Given the description of an element on the screen output the (x, y) to click on. 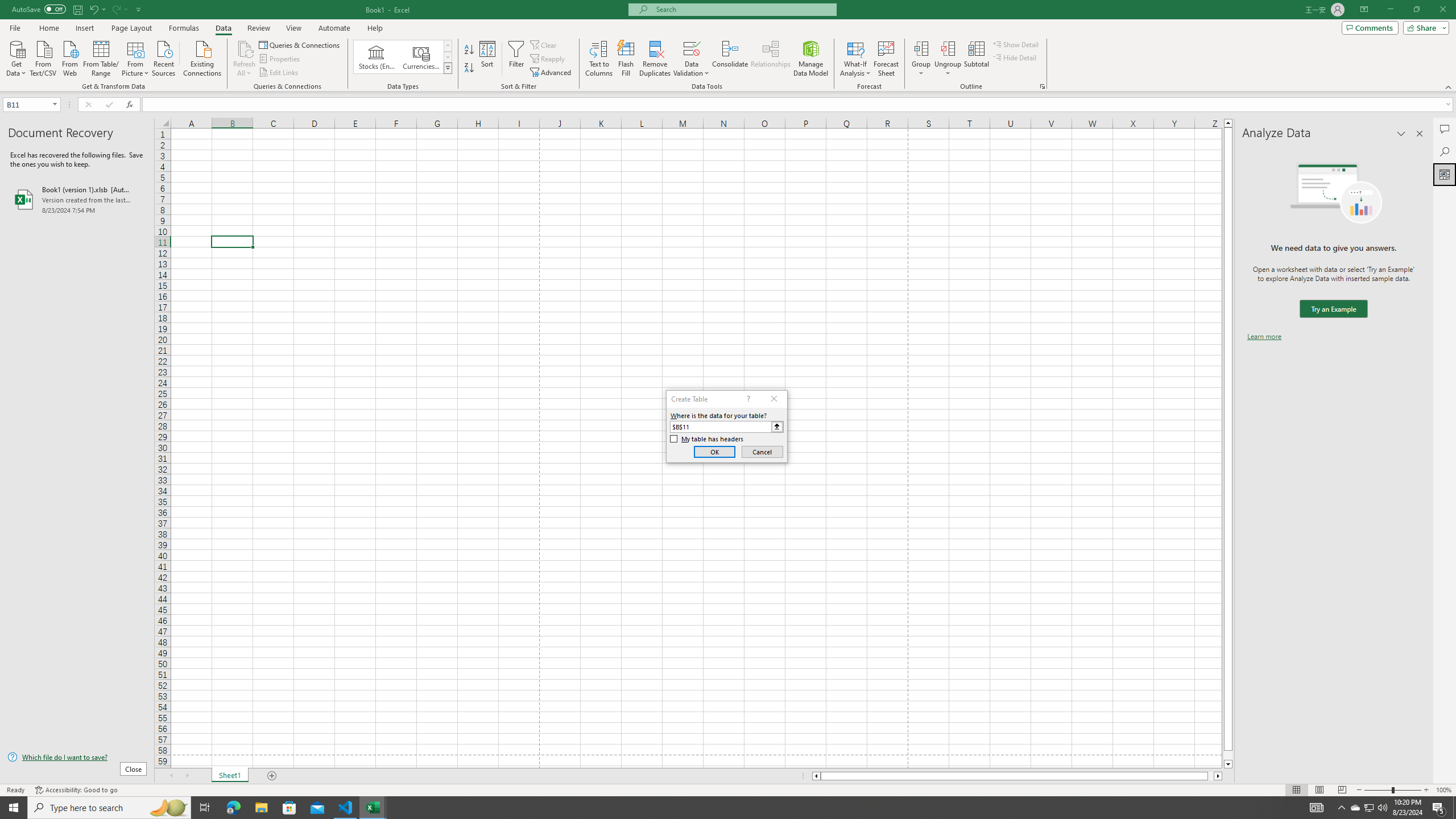
Name Box (30, 104)
Collapse the Ribbon (1448, 86)
Filter (515, 58)
Currencies (English) (420, 56)
Close (1442, 9)
Zoom Out (1377, 790)
AutomationID: ConvertToLinkedEntity (403, 56)
Line up (1228, 122)
Automate (334, 28)
Subtotal (976, 58)
Forecast Sheet (885, 58)
Clear (544, 44)
More Options (947, 68)
Refresh All (244, 48)
Stocks (English) (375, 56)
